Given the description of an element on the screen output the (x, y) to click on. 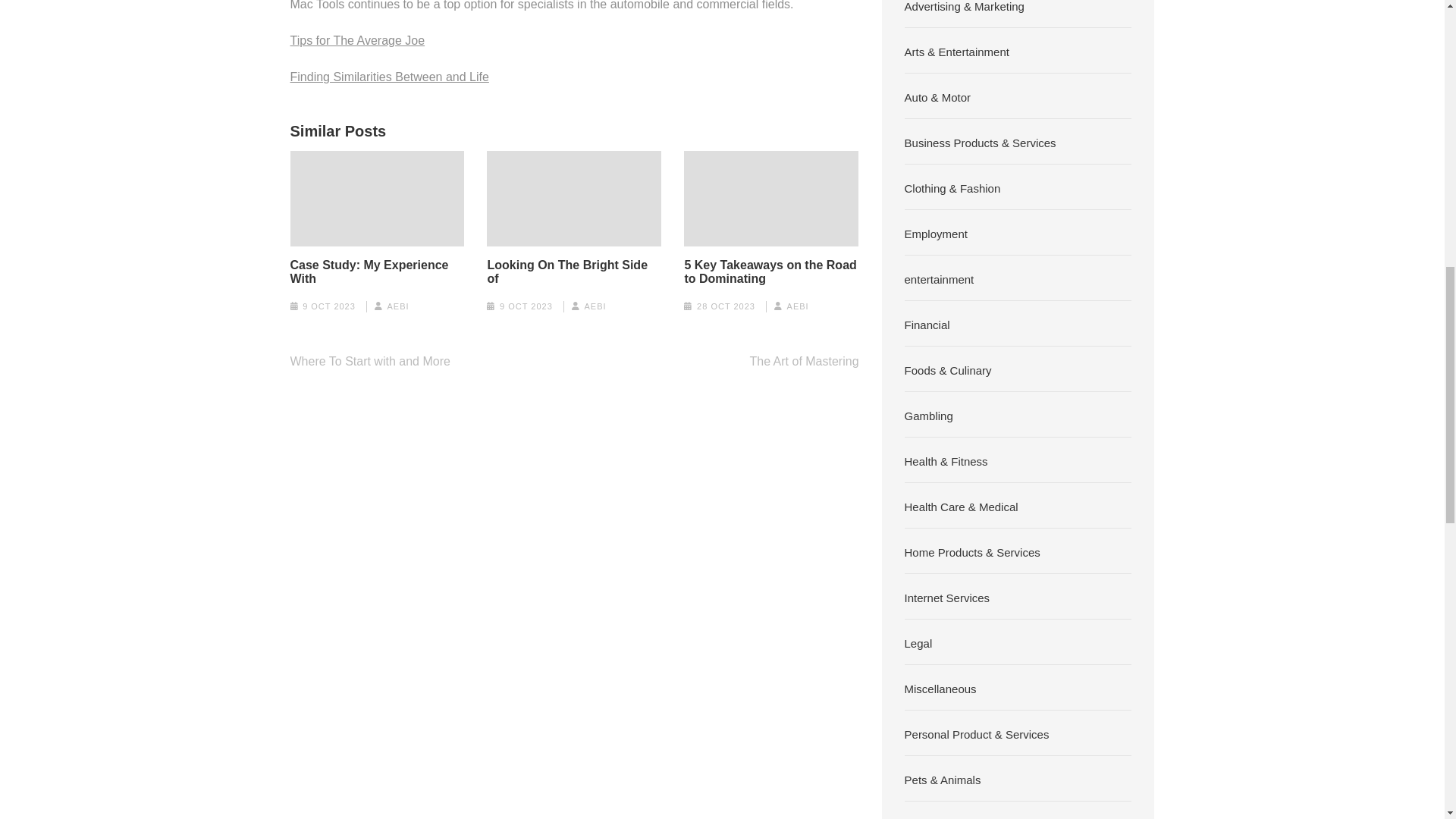
AEBI (398, 306)
Tips for The Average Joe (357, 39)
AEBI (798, 306)
5 Key Takeaways on the Road to Dominating (771, 271)
Finding Similarities Between and Life (388, 75)
9 OCT 2023 (526, 306)
AEBI (594, 306)
9 OCT 2023 (328, 306)
Where To Start with and More (369, 360)
The Art of Mastering (804, 360)
Case Study: My Experience With (376, 271)
28 OCT 2023 (726, 306)
Looking On The Bright Side of (573, 271)
